Given the description of an element on the screen output the (x, y) to click on. 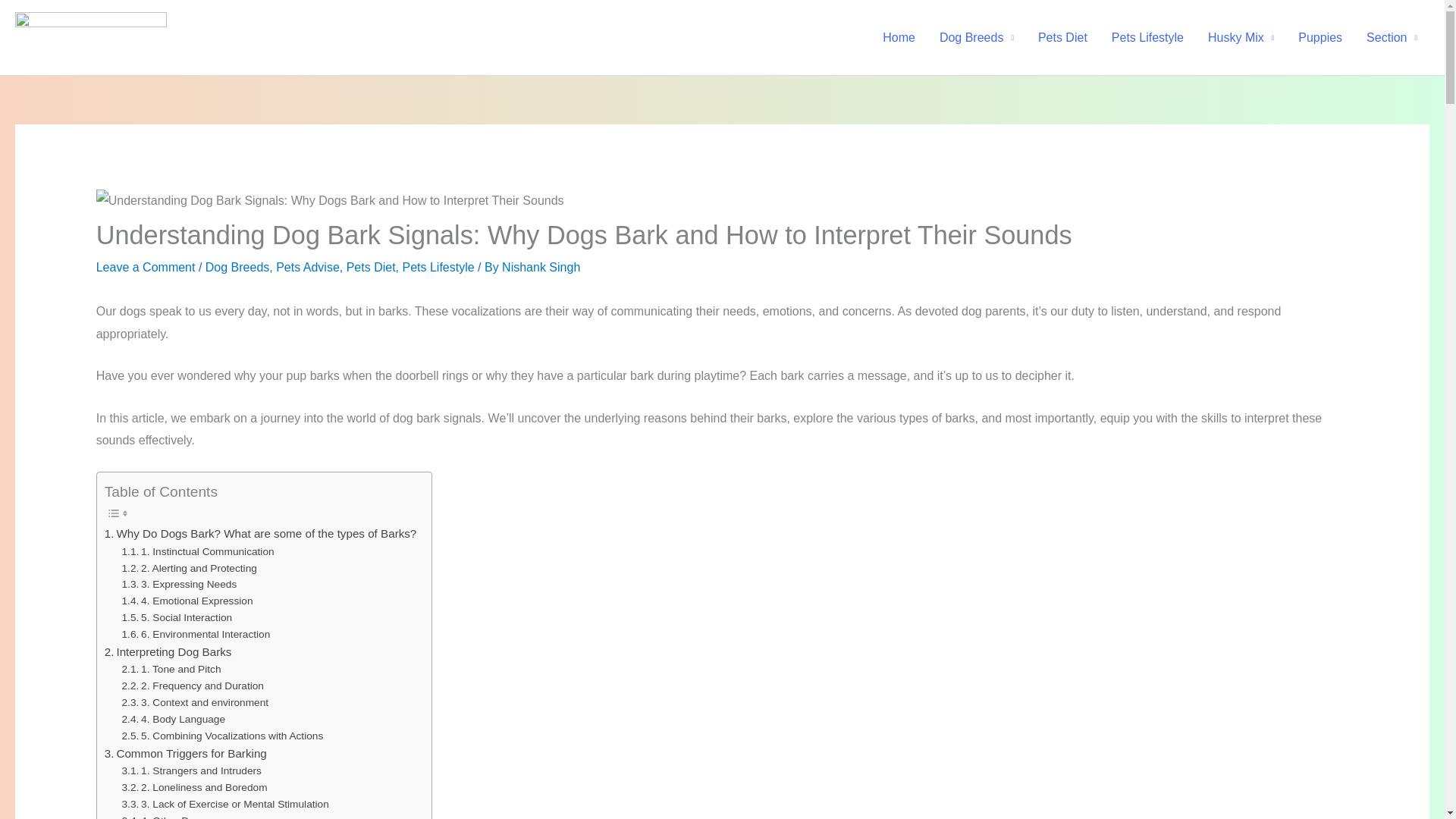
Home (898, 36)
Puppies (1319, 36)
Pets Diet (1062, 36)
Pets Lifestyle (1147, 36)
View all posts by Nishank Singh (540, 267)
1. Instinctual Communication (198, 551)
Dog Breeds (976, 36)
5. Combining Vocalizations with Actions (222, 736)
Leave a Comment (145, 267)
1. Instinctual Communication (198, 551)
Pets Lifestyle (437, 267)
Nishank Singh (540, 267)
Section (1391, 36)
Dog Breeds (237, 267)
Pets Advise (307, 267)
